Given the description of an element on the screen output the (x, y) to click on. 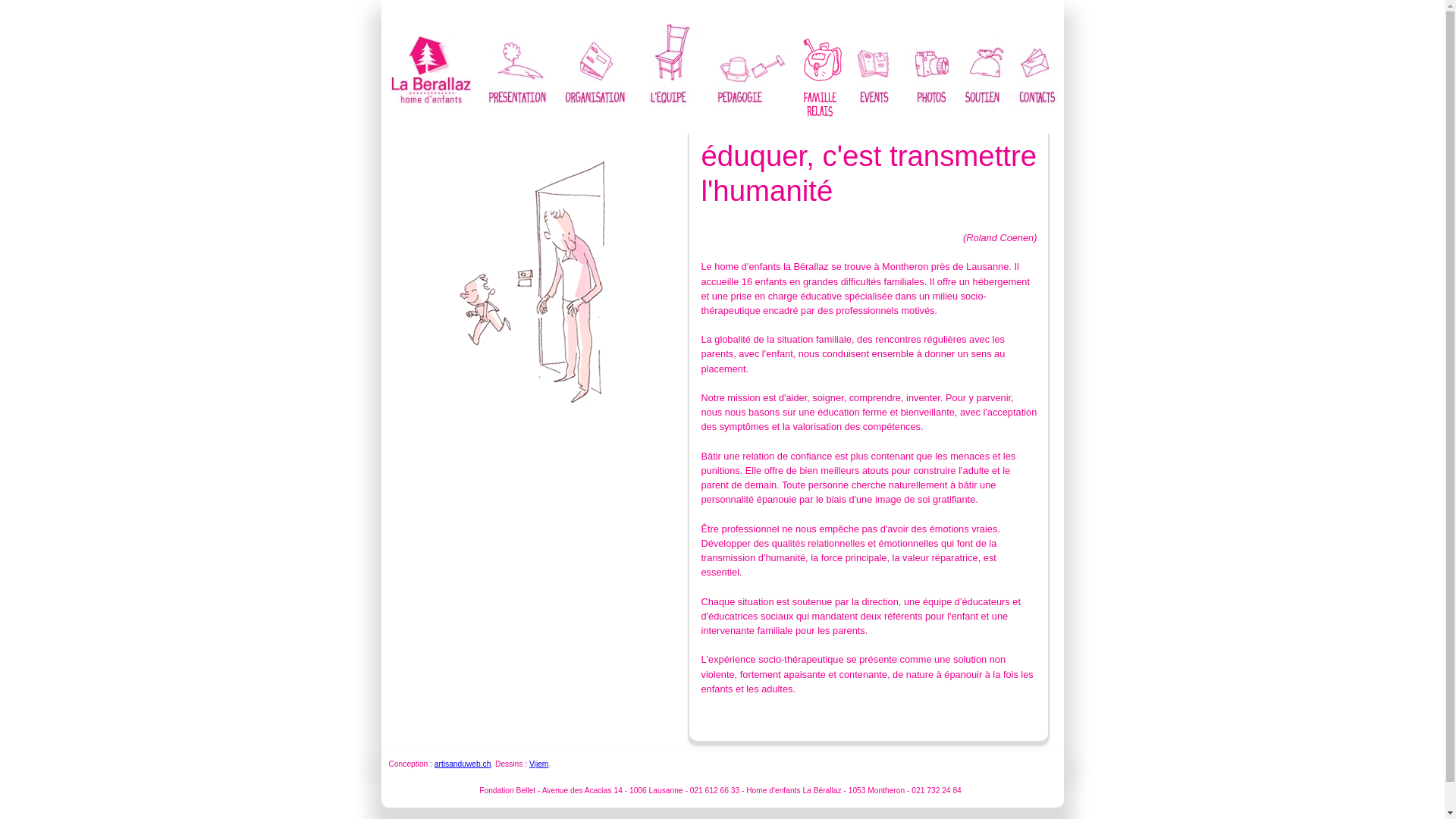
artisanduweb.ch Element type: text (462, 763)
Vijem Element type: text (538, 763)
